Given the description of an element on the screen output the (x, y) to click on. 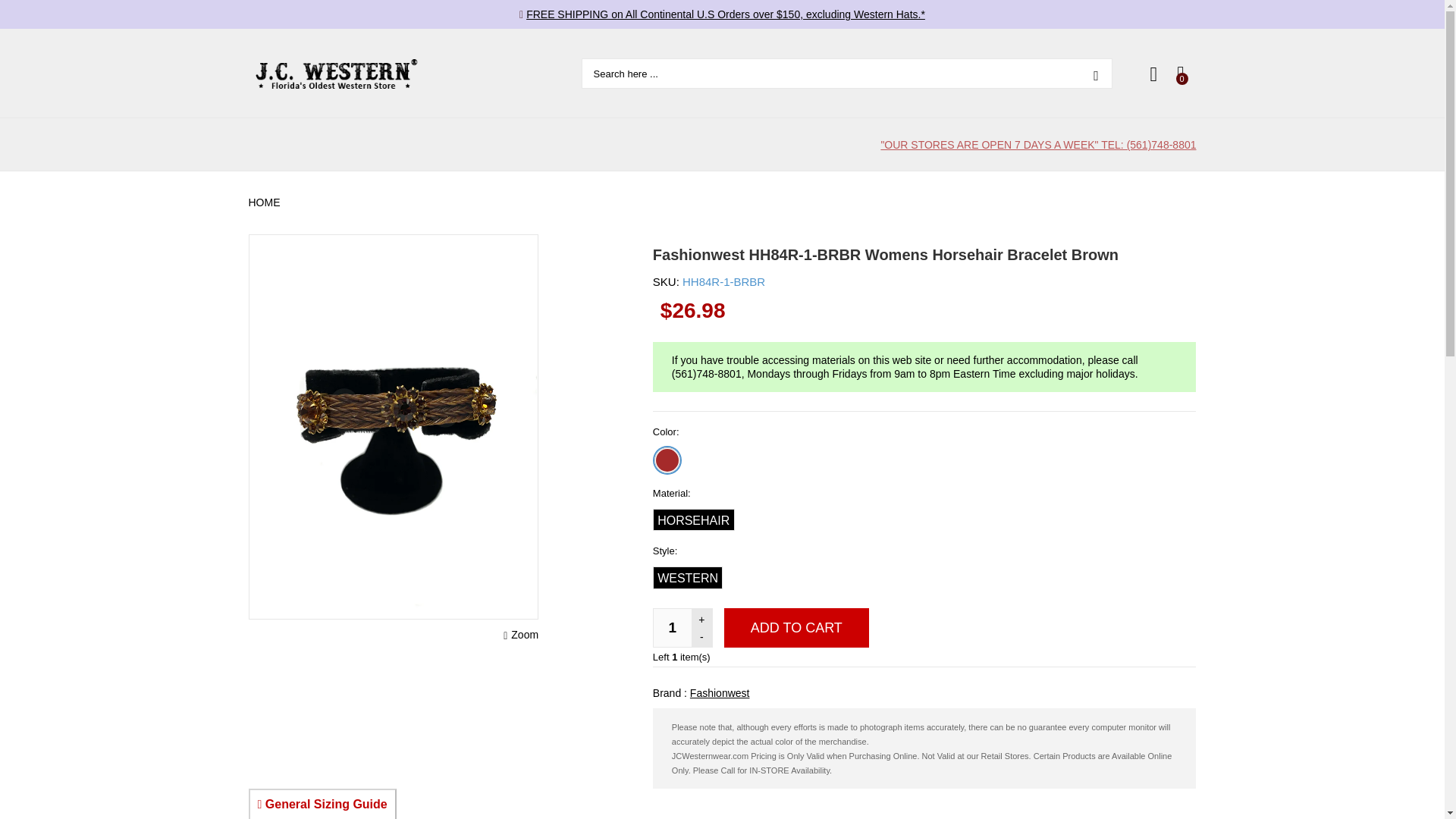
WESTERN (687, 577)
Submit form (1096, 73)
HORSEHAIR (693, 519)
Home (265, 202)
1 (672, 628)
Zoom (520, 634)
- (701, 636)
Add to Cart (796, 627)
ADD TO CART (796, 627)
HOME (265, 202)
Brown (666, 460)
